Given the description of an element on the screen output the (x, y) to click on. 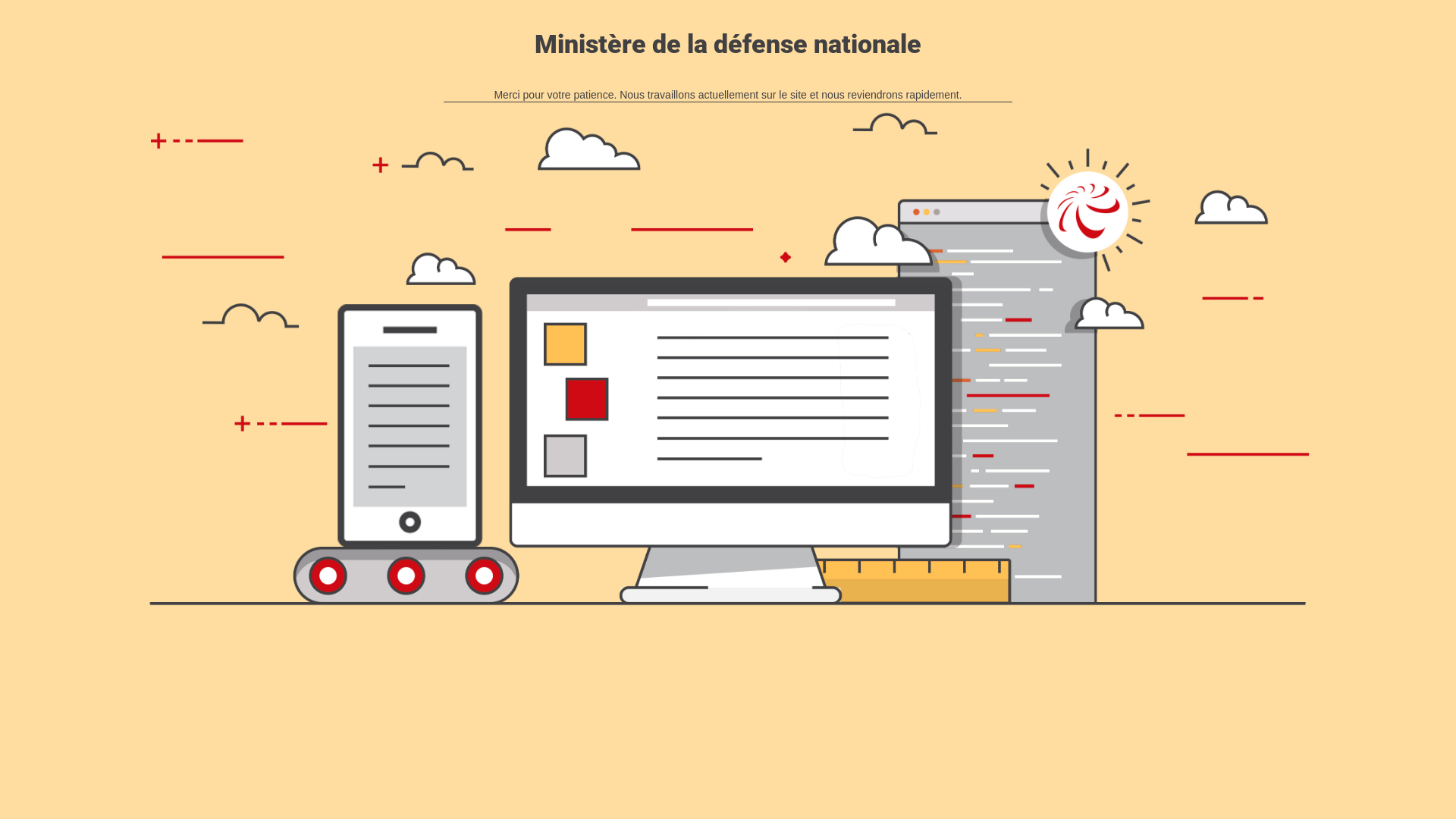
Site is Under Construction Element type: hover (727, 358)
